Given the description of an element on the screen output the (x, y) to click on. 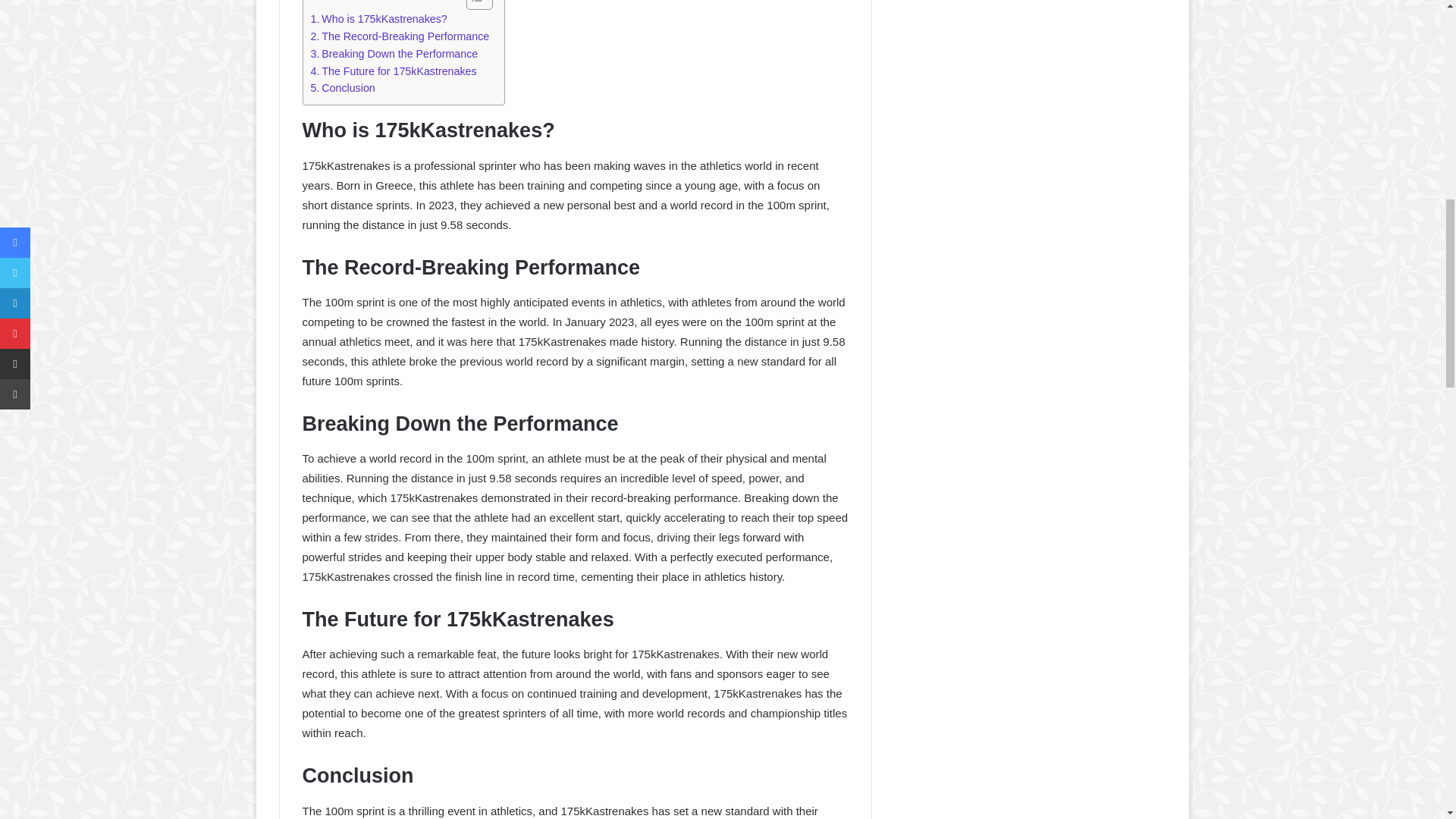
Breaking Down the Performance (395, 54)
Who is 175kKastrenakes? (378, 18)
The Future for 175kKastrenakes (394, 71)
The Future for 175kKastrenakes (394, 71)
The Record-Breaking Performance (400, 36)
The Record-Breaking Performance (400, 36)
Conclusion (343, 88)
Who is 175kKastrenakes? (378, 18)
Breaking Down the Performance (395, 54)
Conclusion (343, 88)
